Given the description of an element on the screen output the (x, y) to click on. 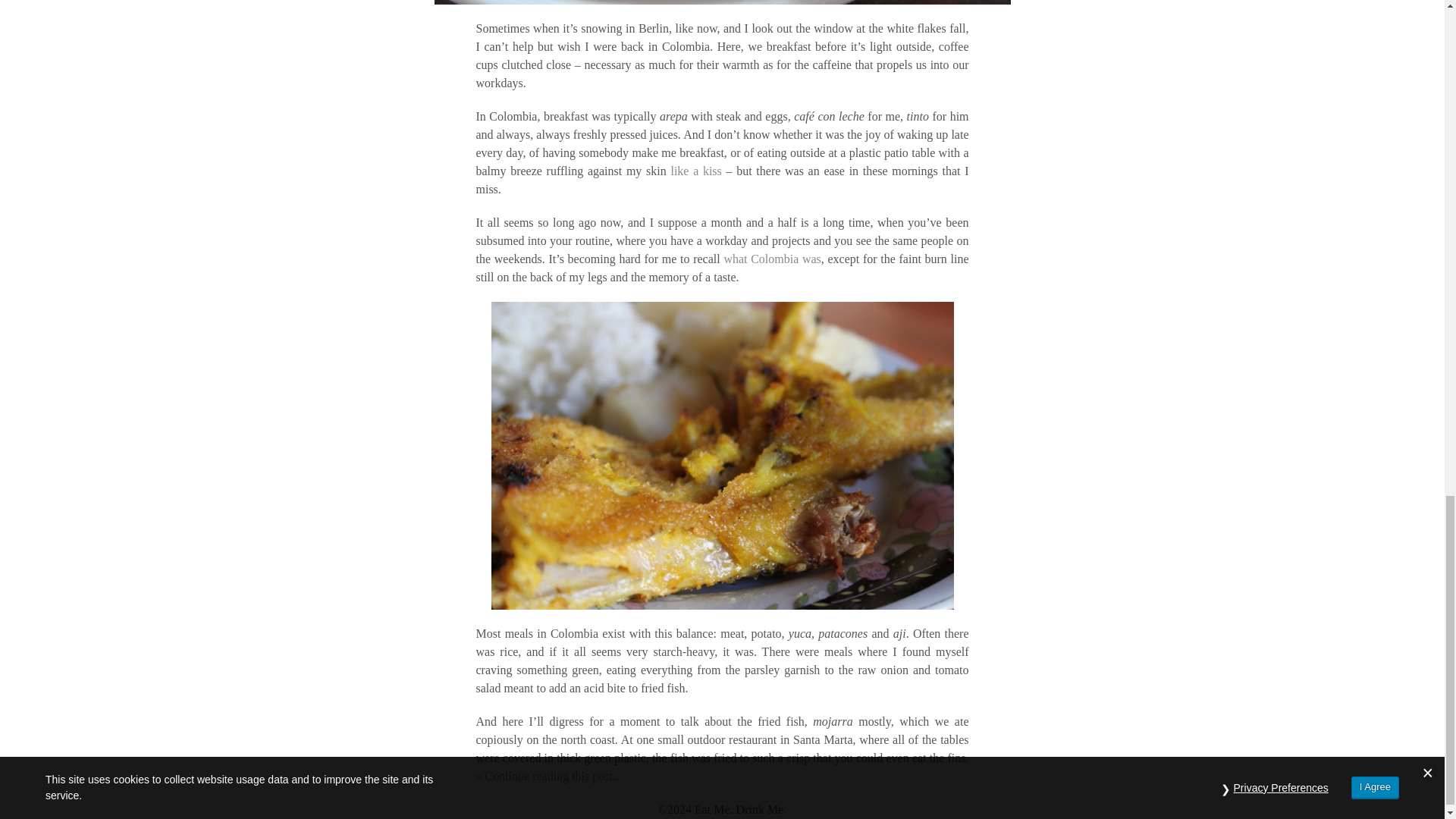
like a kiss (694, 170)
Learning to Speak Spanish Part II: Besar (694, 170)
Learning to Speak Spanish Part I: Querer (772, 258)
what Colombia was (772, 258)
